Given the description of an element on the screen output the (x, y) to click on. 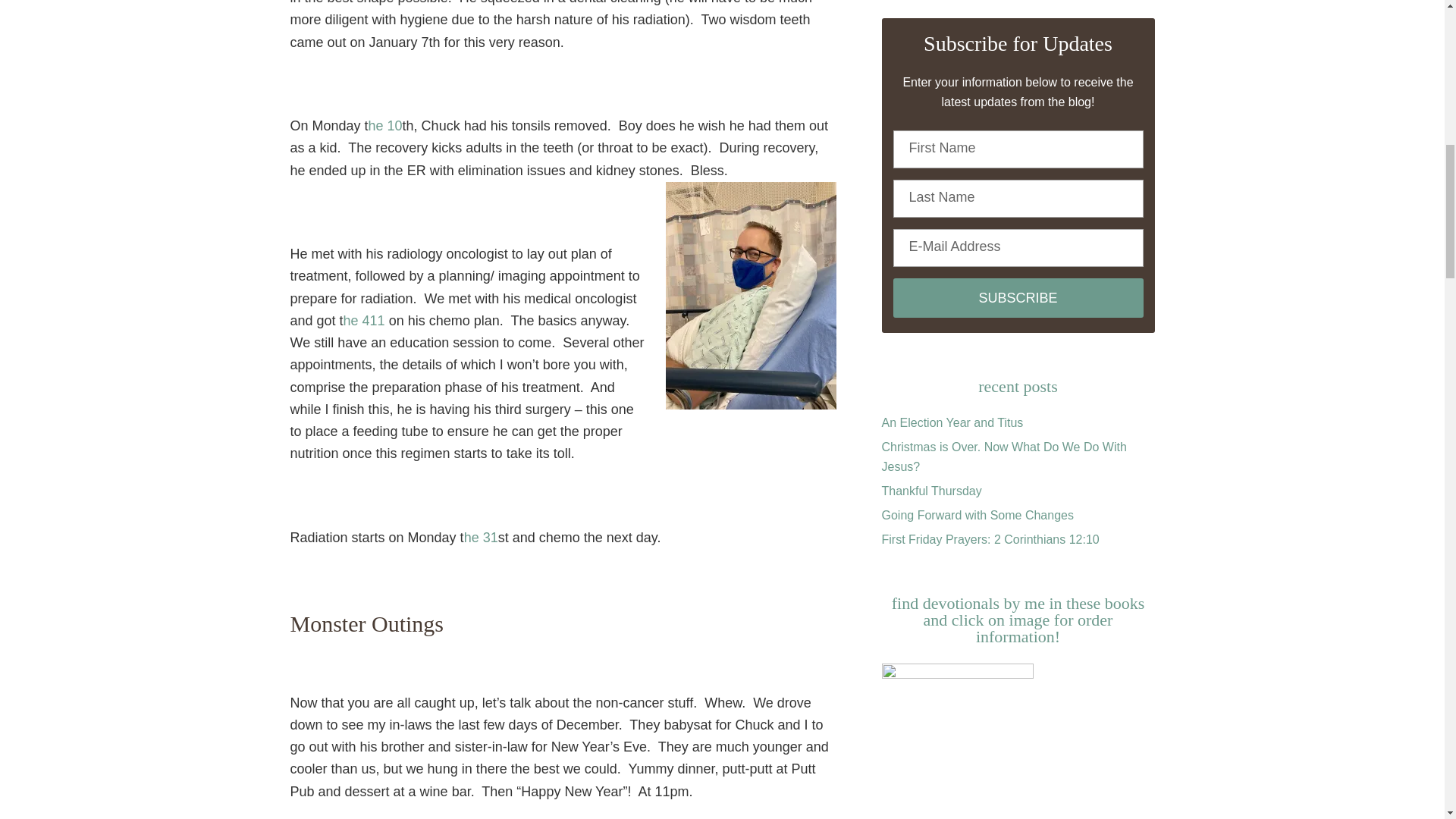
Subscribe (1017, 297)
he 10 (385, 125)
he 411 (364, 320)
he 31 (480, 537)
